Given the description of an element on the screen output the (x, y) to click on. 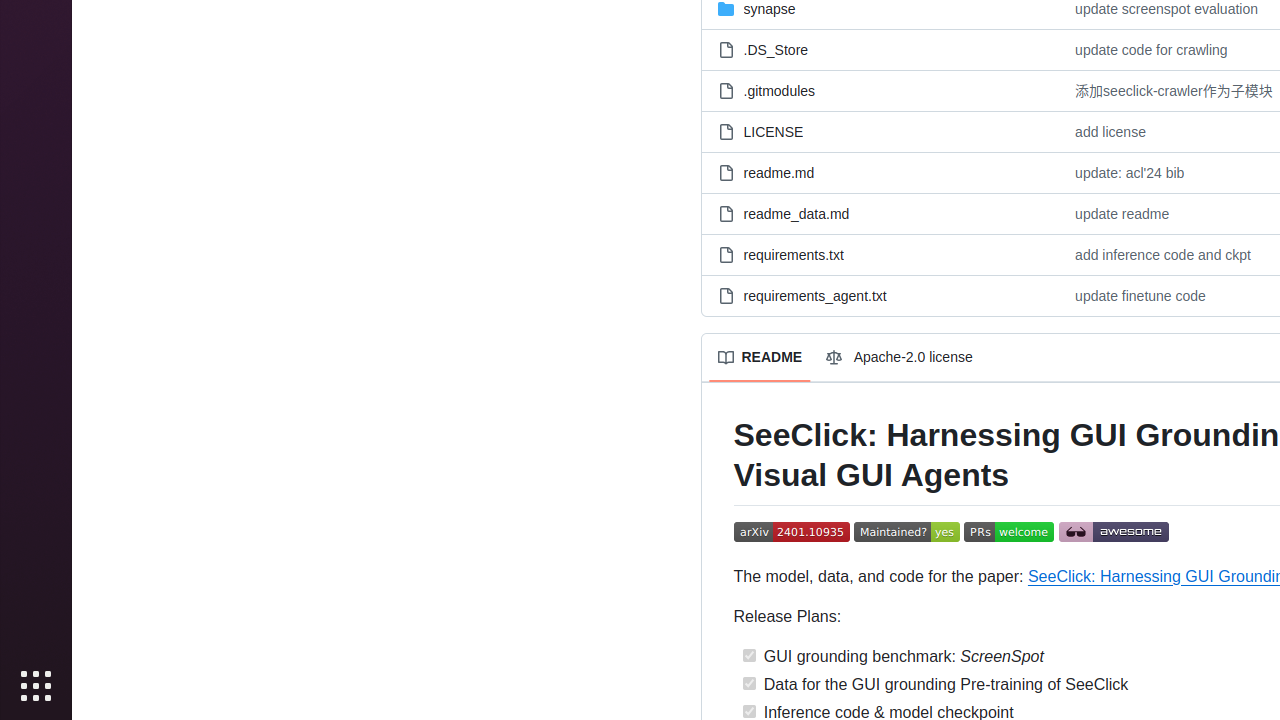
readme.md, (File) Element type: table-cell (880, 172)
README Element type: link (760, 358)
LICENSE, (File) Element type: table-cell (880, 131)
Maintenance Element type: link (906, 533)
LICENSE, (File) Element type: link (773, 131)
